Given the description of an element on the screen output the (x, y) to click on. 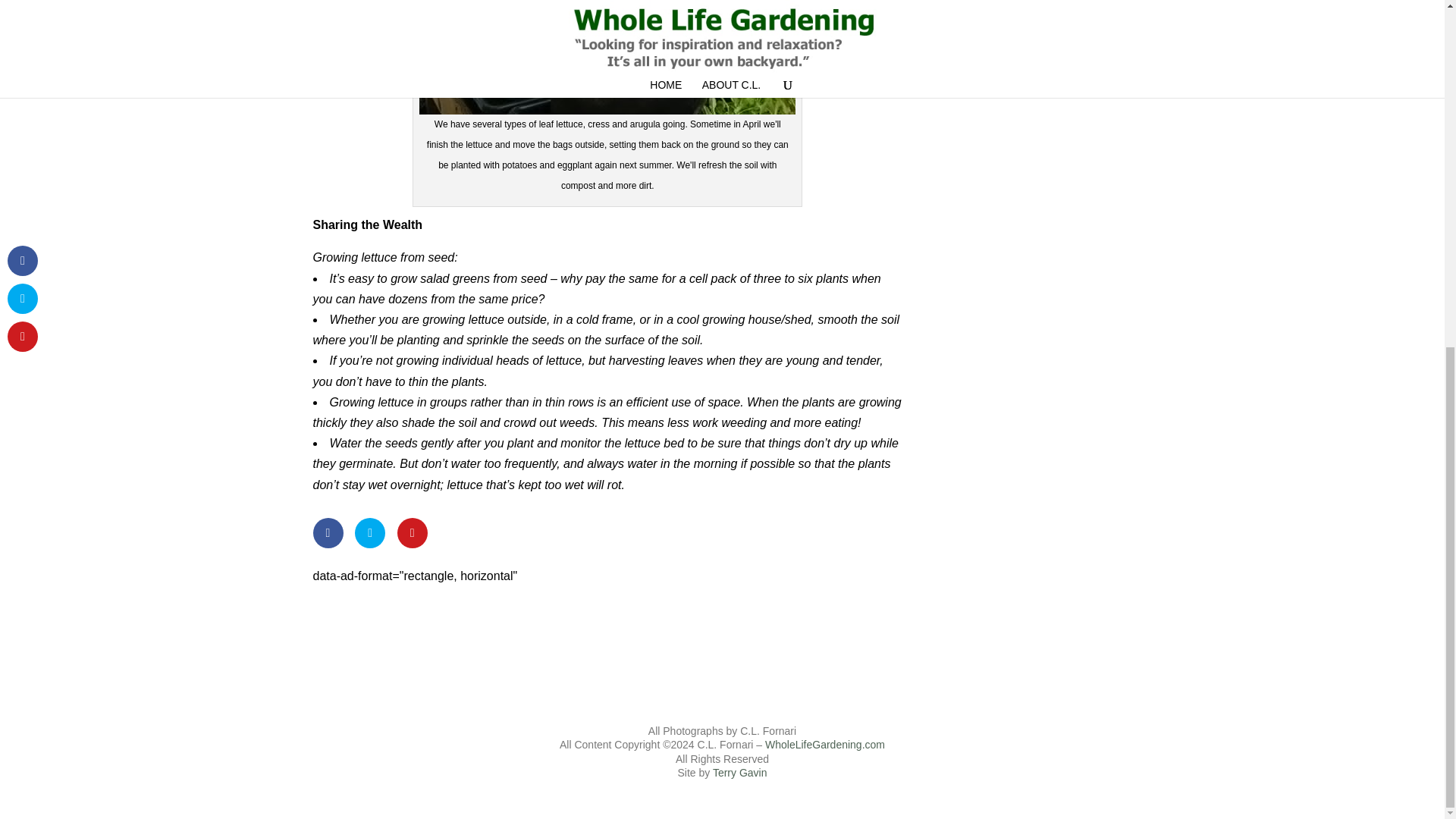
Terry Gavin (740, 772)
SAMSUNG (606, 56)
WholeLifeGardening.com (825, 744)
Terry Gavin (740, 772)
